Given the description of an element on the screen output the (x, y) to click on. 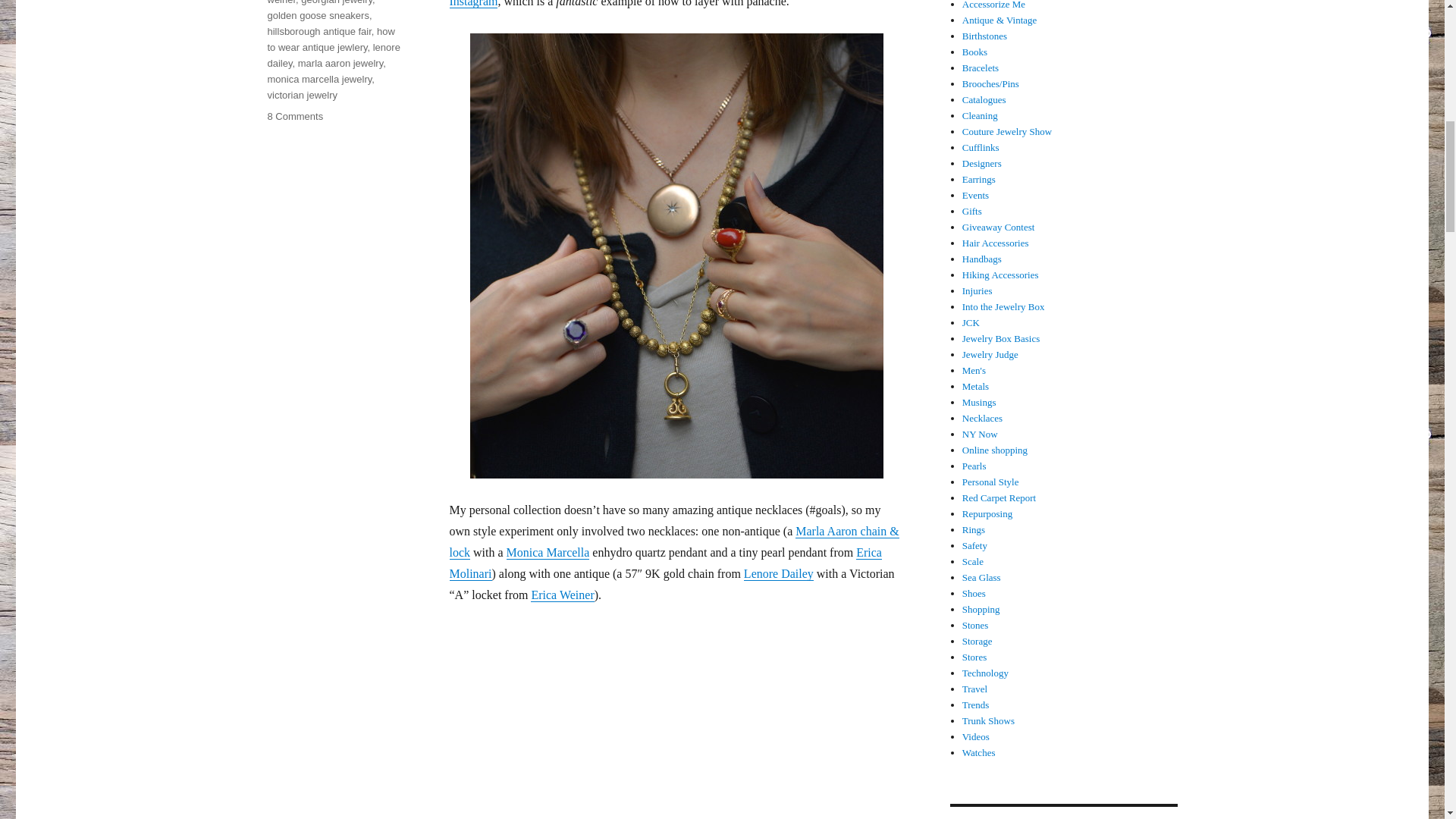
Instagram (472, 3)
Monica Marcella (547, 552)
Lenore Dailey (778, 573)
Erica Weiner (562, 594)
Erica Molinari (664, 562)
